Given the description of an element on the screen output the (x, y) to click on. 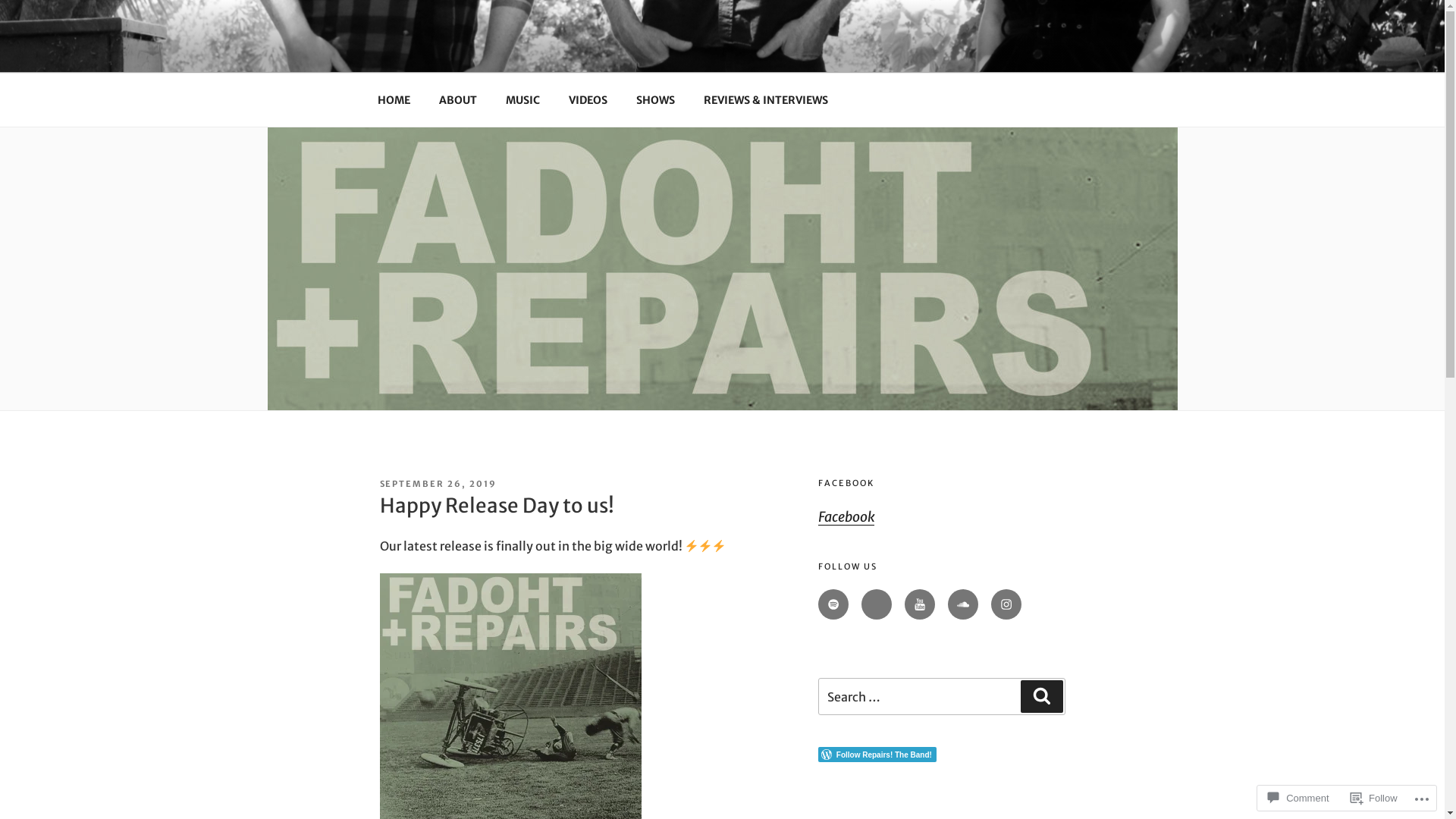
SEPTEMBER 26, 2019 Element type: text (437, 483)
VIDEOS Element type: text (587, 100)
REVIEWS & INTERVIEWS Element type: text (765, 100)
SHOWS Element type: text (655, 100)
MUSIC Element type: text (522, 100)
Facebook Element type: text (846, 516)
FACEBOOK Element type: text (846, 482)
Comment Element type: text (1297, 797)
REPAIRS! THE BAND! Element type: text (532, 53)
Follow Element type: text (1373, 797)
ABOUT Element type: text (458, 100)
HOME Element type: text (393, 100)
Follow Button Element type: hover (941, 754)
